Given the description of an element on the screen output the (x, y) to click on. 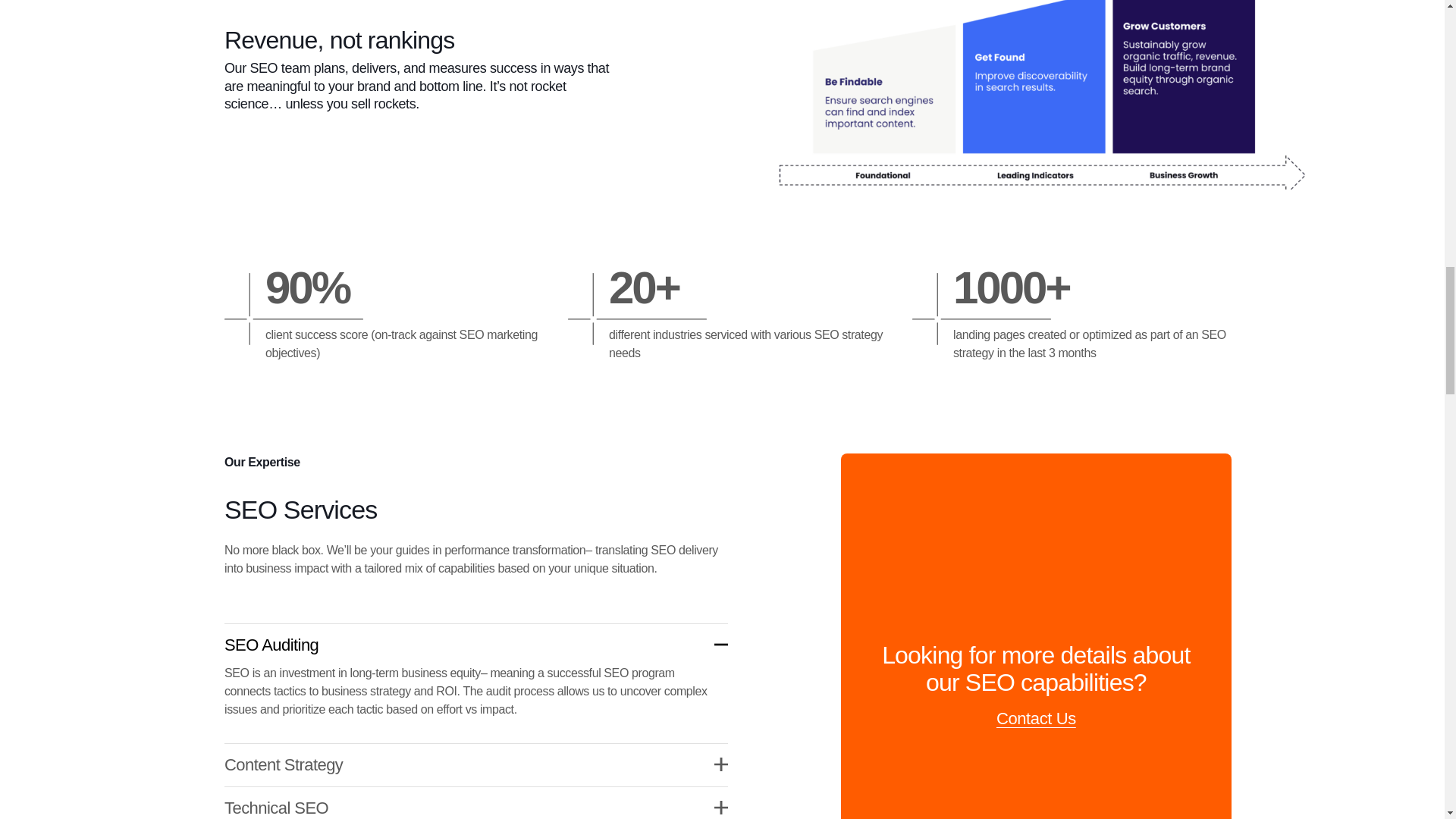
Contact Us (1035, 718)
